Given the description of an element on the screen output the (x, y) to click on. 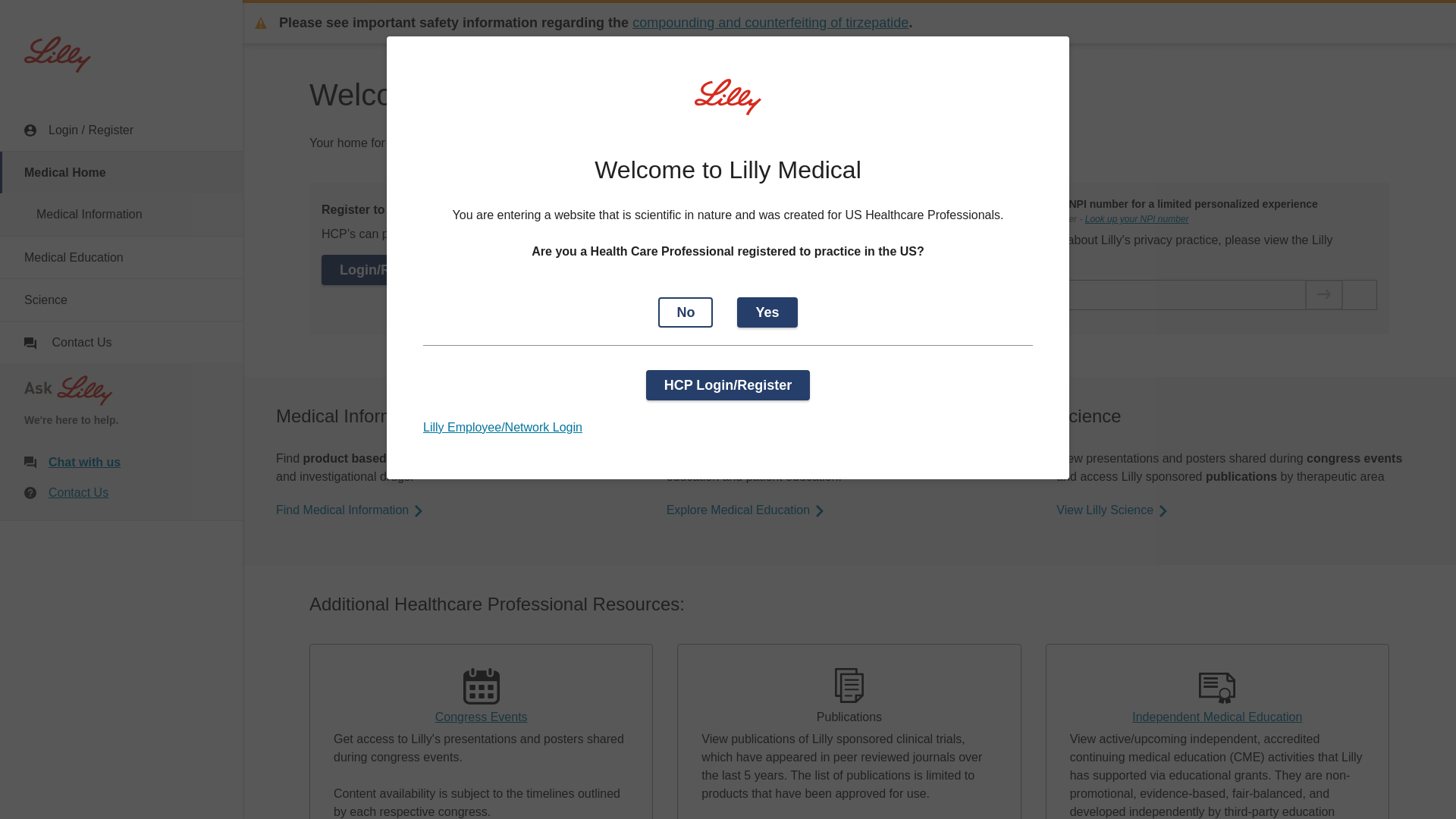
privacy statement (999, 258)
Congress Events (481, 717)
Chat with us (133, 462)
Warning (260, 22)
Contact Us (121, 493)
Submit (1323, 294)
Congress Events (481, 686)
chat (30, 343)
Medical Information (121, 214)
Lilly (57, 54)
